Given the description of an element on the screen output the (x, y) to click on. 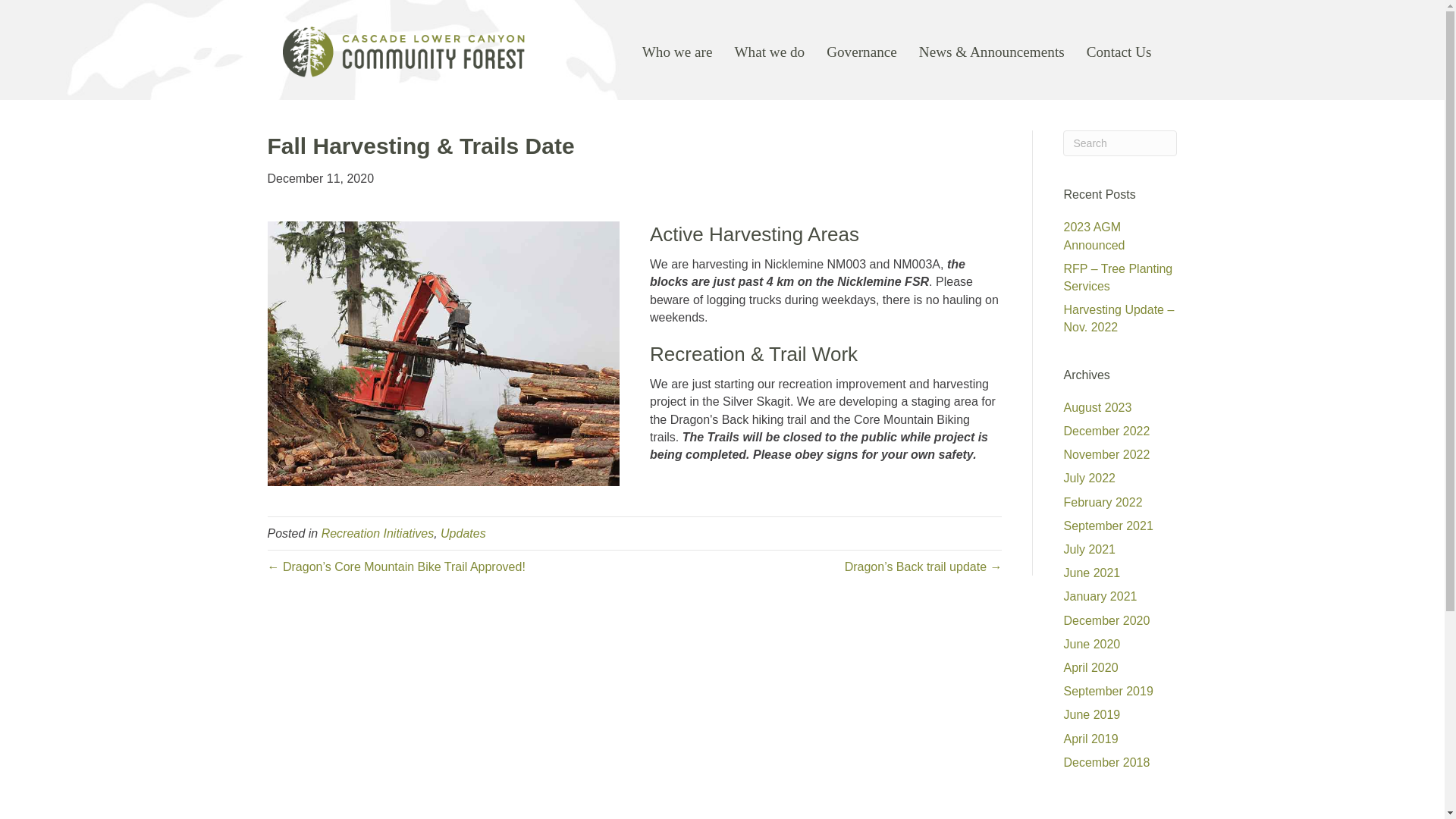
Who we are (677, 52)
July 2022 (1088, 477)
April 2019 (1090, 738)
Updates (463, 533)
2023 AGM Announced (1093, 235)
July 2021 (1088, 549)
June 2021 (1090, 572)
June 2020 (1090, 644)
Type and press Enter to search. (1119, 143)
What we do (769, 52)
